Given the description of an element on the screen output the (x, y) to click on. 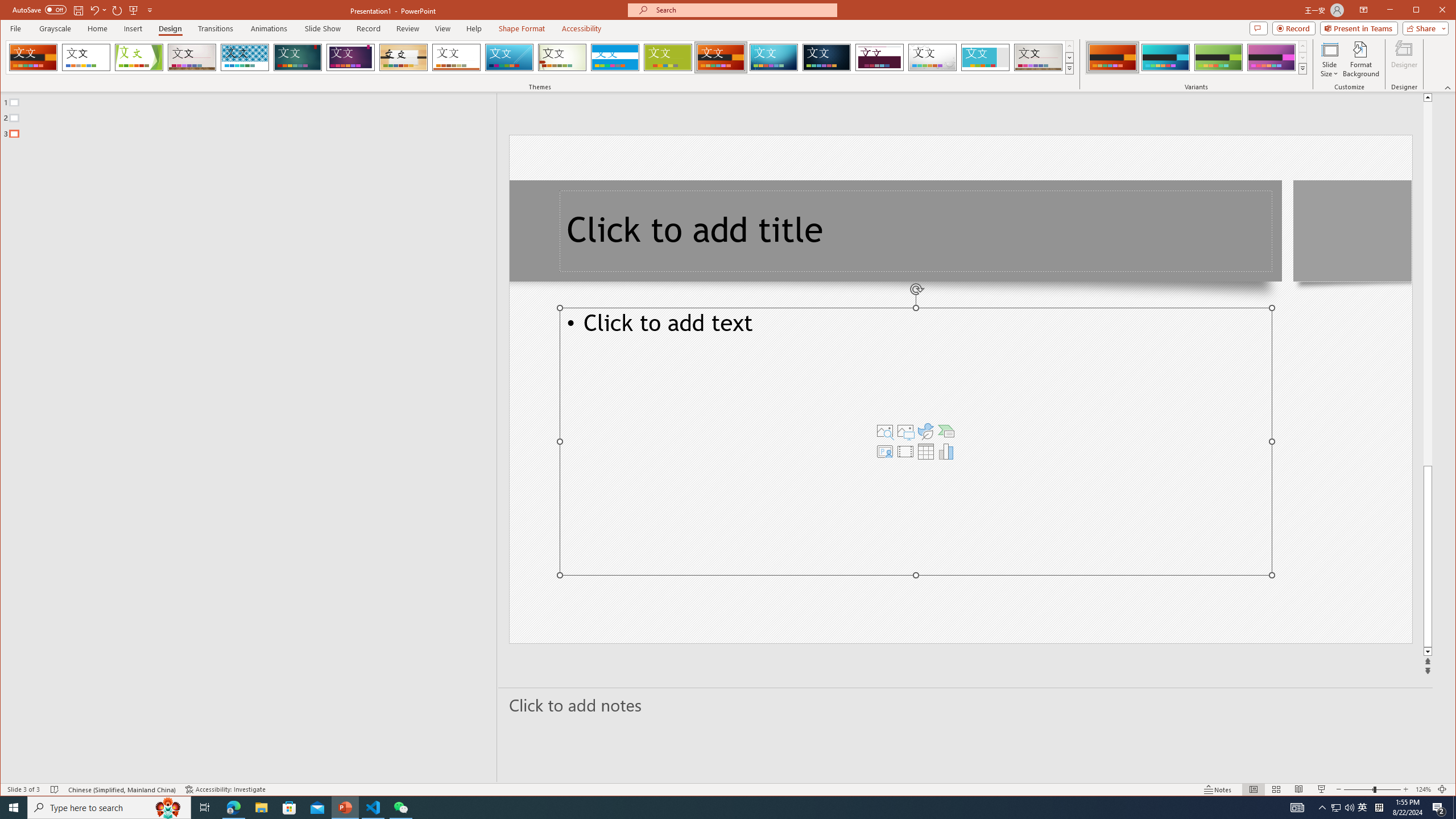
Banded (615, 57)
Berlin Variant 1 (1112, 57)
Droplet (932, 57)
Insert a SmartArt Graphic (946, 430)
